Given the description of an element on the screen output the (x, y) to click on. 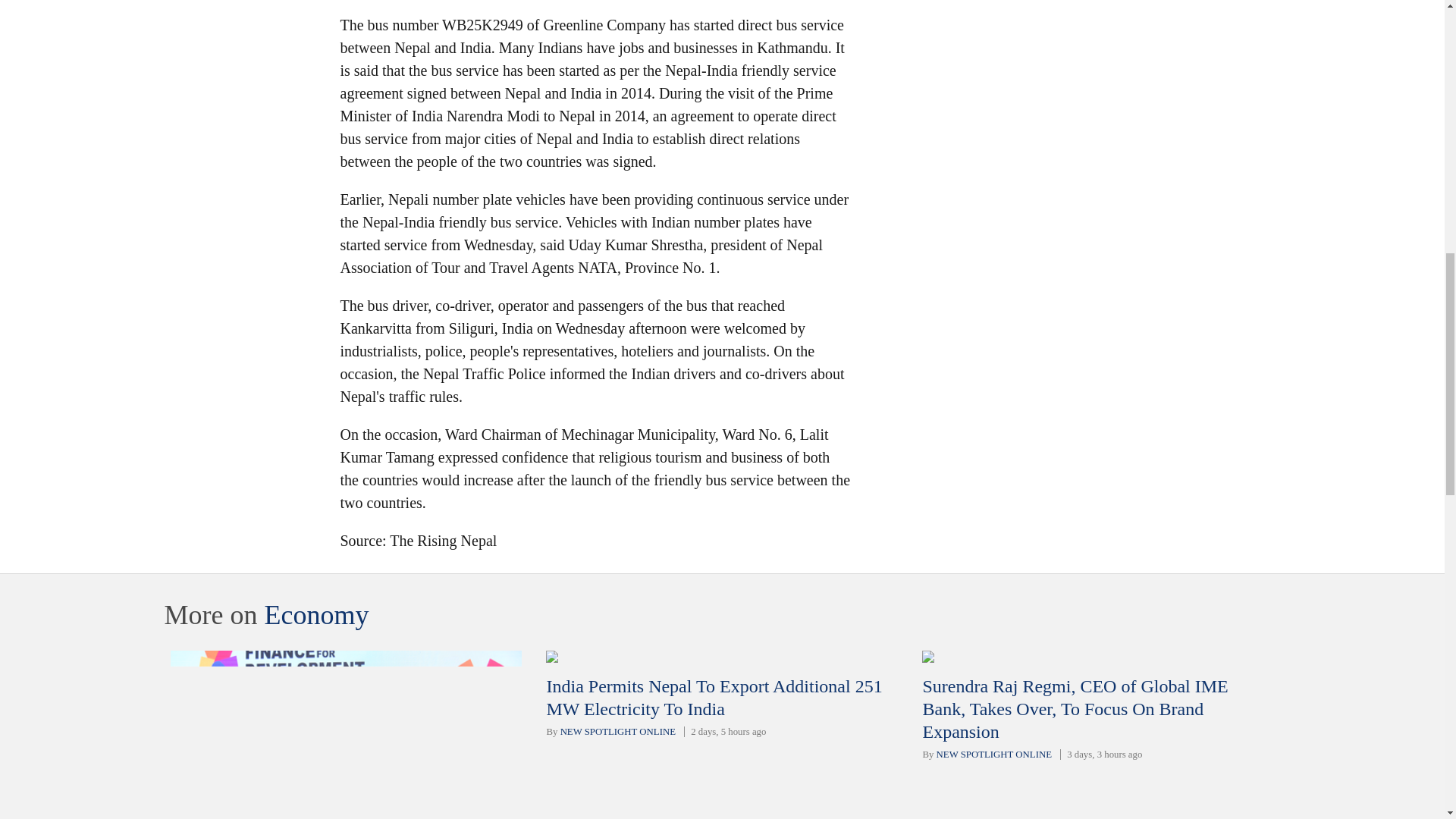
NEW SPOTLIGHT ONLINE (617, 731)
NEW SPOTLIGHT ONLINE (993, 754)
Economy (315, 614)
